Given the description of an element on the screen output the (x, y) to click on. 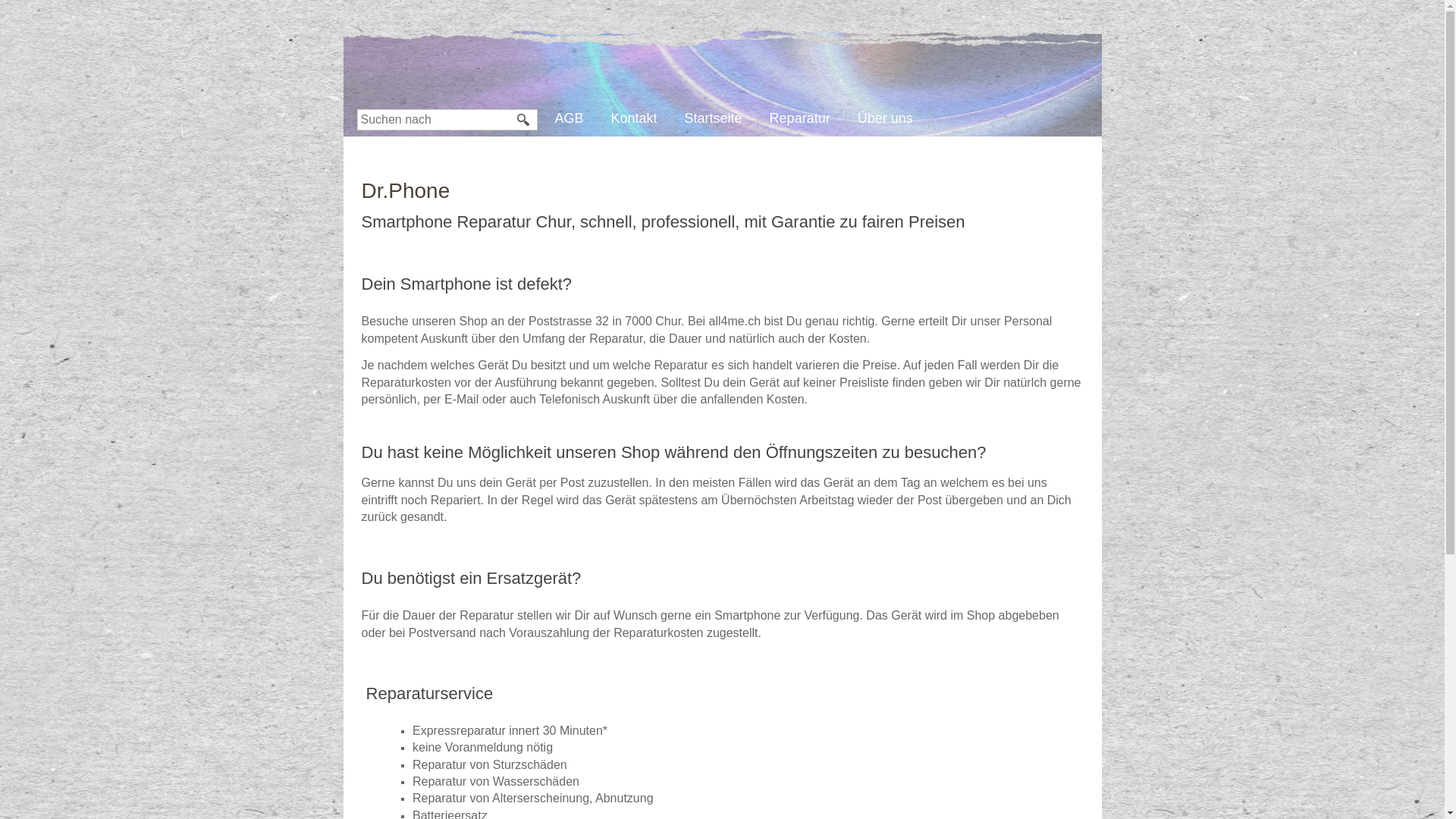
AGB Element type: text (573, 116)
Suche starten Element type: hover (523, 119)
Kontakt Element type: text (638, 116)
Startseite Element type: text (716, 116)
Reparatur Element type: text (803, 116)
